Given the description of an element on the screen output the (x, y) to click on. 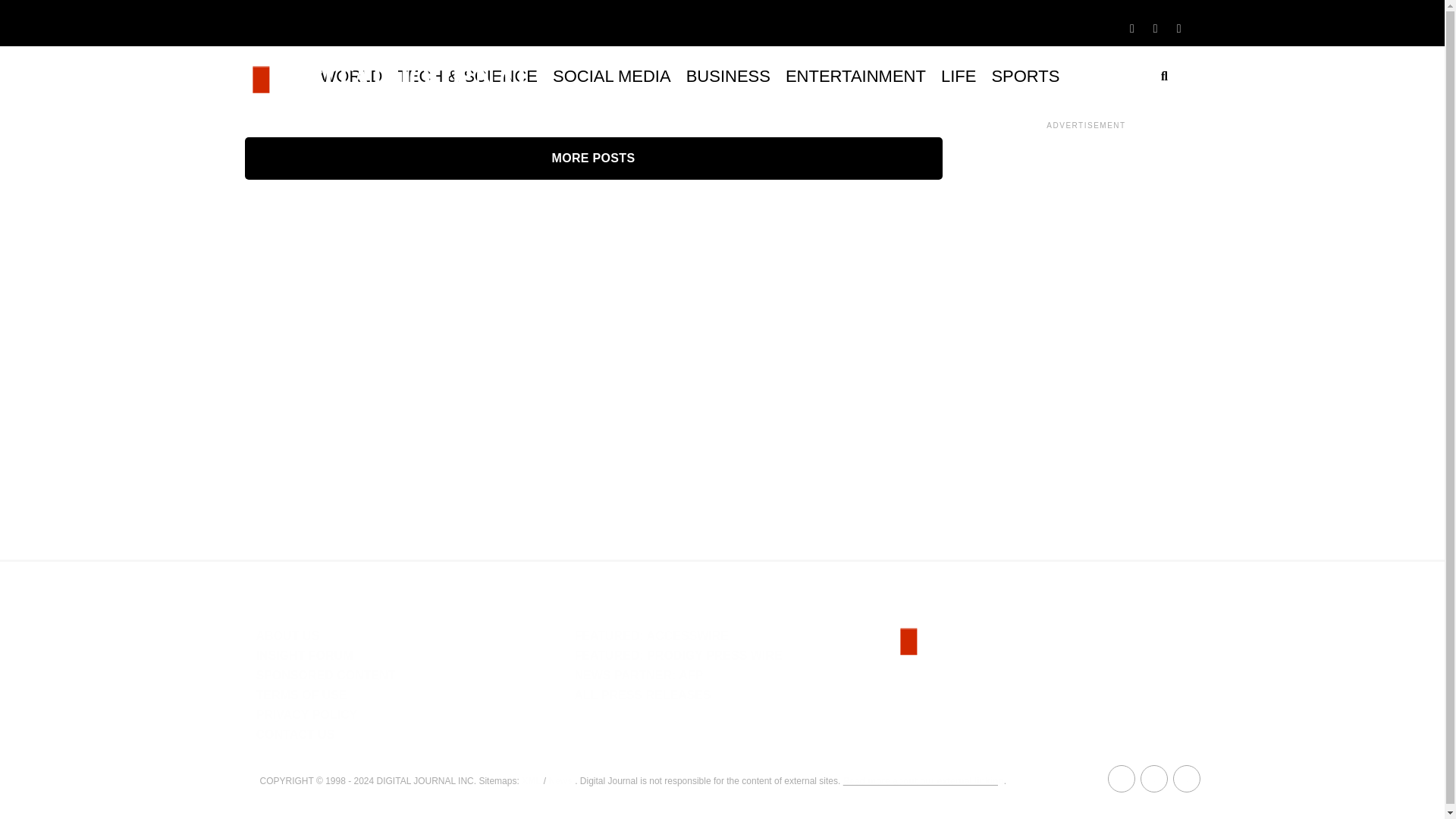
TERMS OF USE (301, 694)
PRIVACY POLICY (307, 714)
WORLD (351, 76)
SPORTS (1025, 76)
SOCIAL MEDIA (611, 76)
BUSINESS (727, 76)
NEWS PARTNER: AFP (638, 675)
FEATURED: PRODIGY PRESS WIRE (677, 655)
CONTACT US (295, 734)
SPONSORED CONTENT (326, 675)
INSIGHT FORUM (304, 655)
News (560, 779)
ENTERTAINMENT (855, 76)
ALL PRESS RELEASES (641, 694)
FEATURED: ACCESSWIRE (651, 635)
